Given the description of an element on the screen output the (x, y) to click on. 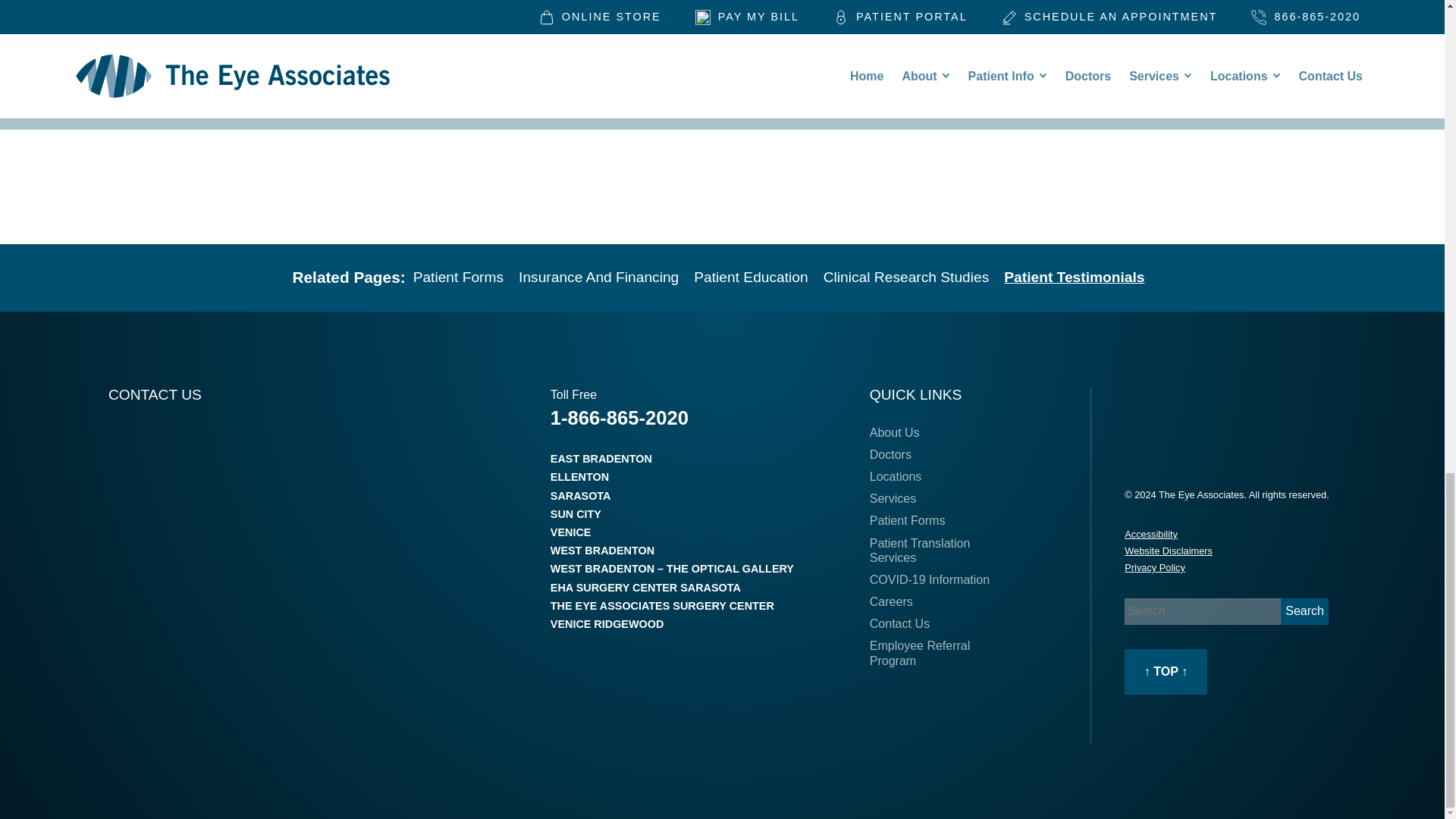
Clinical Research Studies (907, 277)
Patient Forms (458, 277)
Search (1304, 611)
Insurance And Financing (598, 277)
Search (1304, 611)
Patient Education (751, 277)
